Given the description of an element on the screen output the (x, y) to click on. 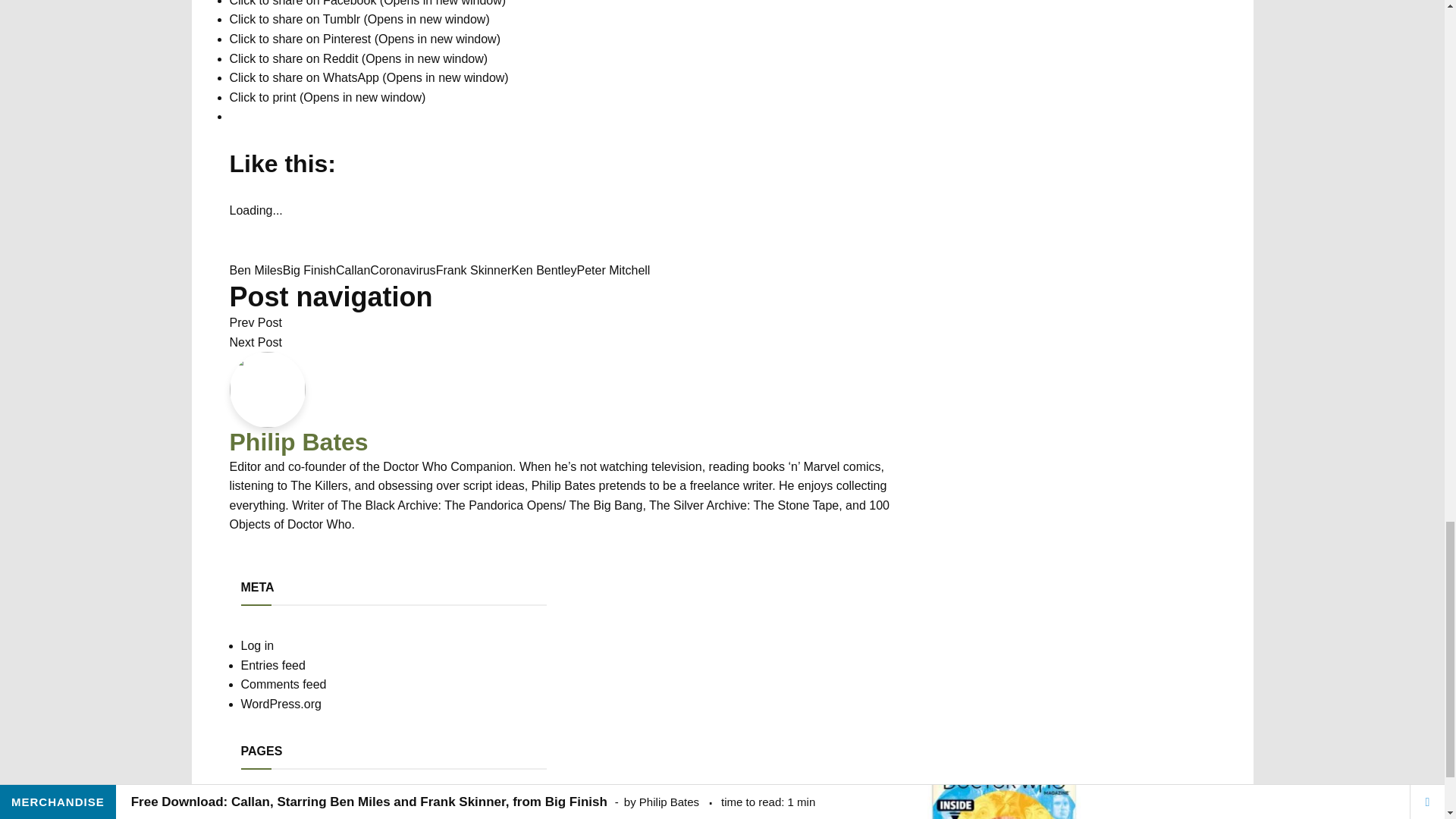
Click to share on Facebook (366, 3)
Click to share on Reddit (357, 58)
Click to share on Tumblr (358, 19)
Click to print (326, 97)
Click to share on WhatsApp (368, 77)
Click to share on Pinterest (364, 38)
